Given the description of an element on the screen output the (x, y) to click on. 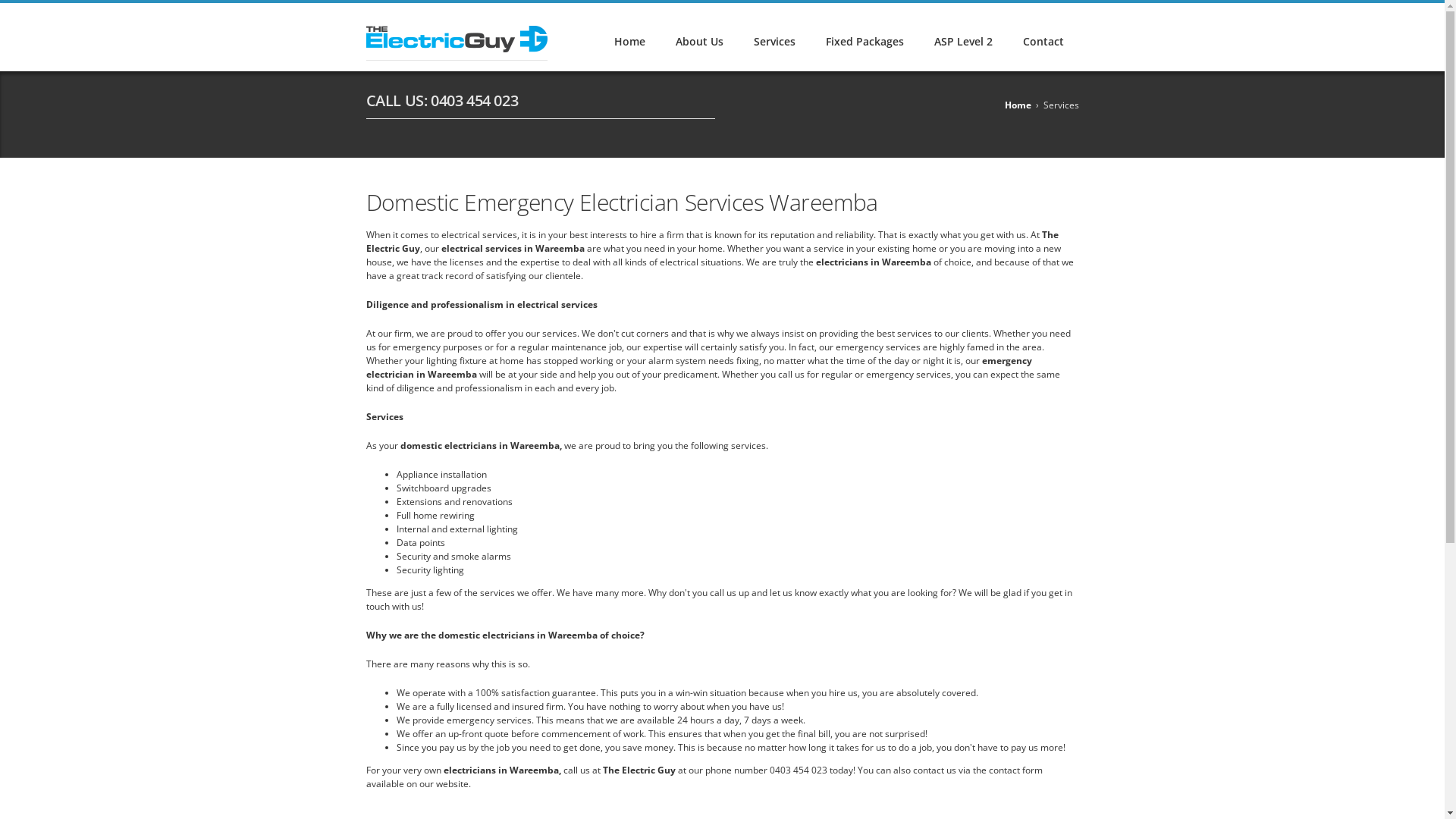
Home Element type: text (1017, 104)
ASP Level 2 Element type: text (963, 35)
Contact Element type: text (1042, 35)
About Us Element type: text (698, 35)
Fixed Packages Element type: text (863, 35)
Home Element type: text (629, 35)
Services Element type: text (774, 35)
